Given the description of an element on the screen output the (x, y) to click on. 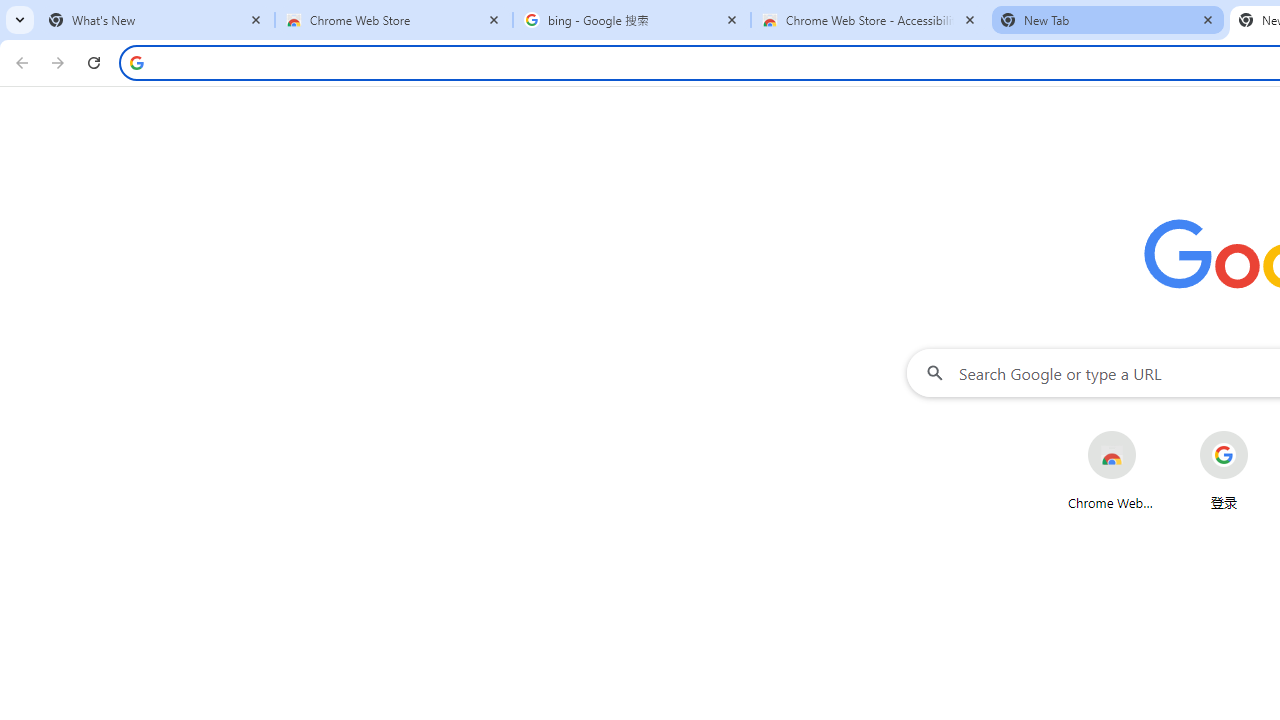
What's New (156, 20)
Search icon (136, 62)
New Tab (1108, 20)
More actions for Chrome Web Store shortcut (1151, 433)
Chrome Web Store - Accessibility (870, 20)
Chrome Web Store (394, 20)
